Given the description of an element on the screen output the (x, y) to click on. 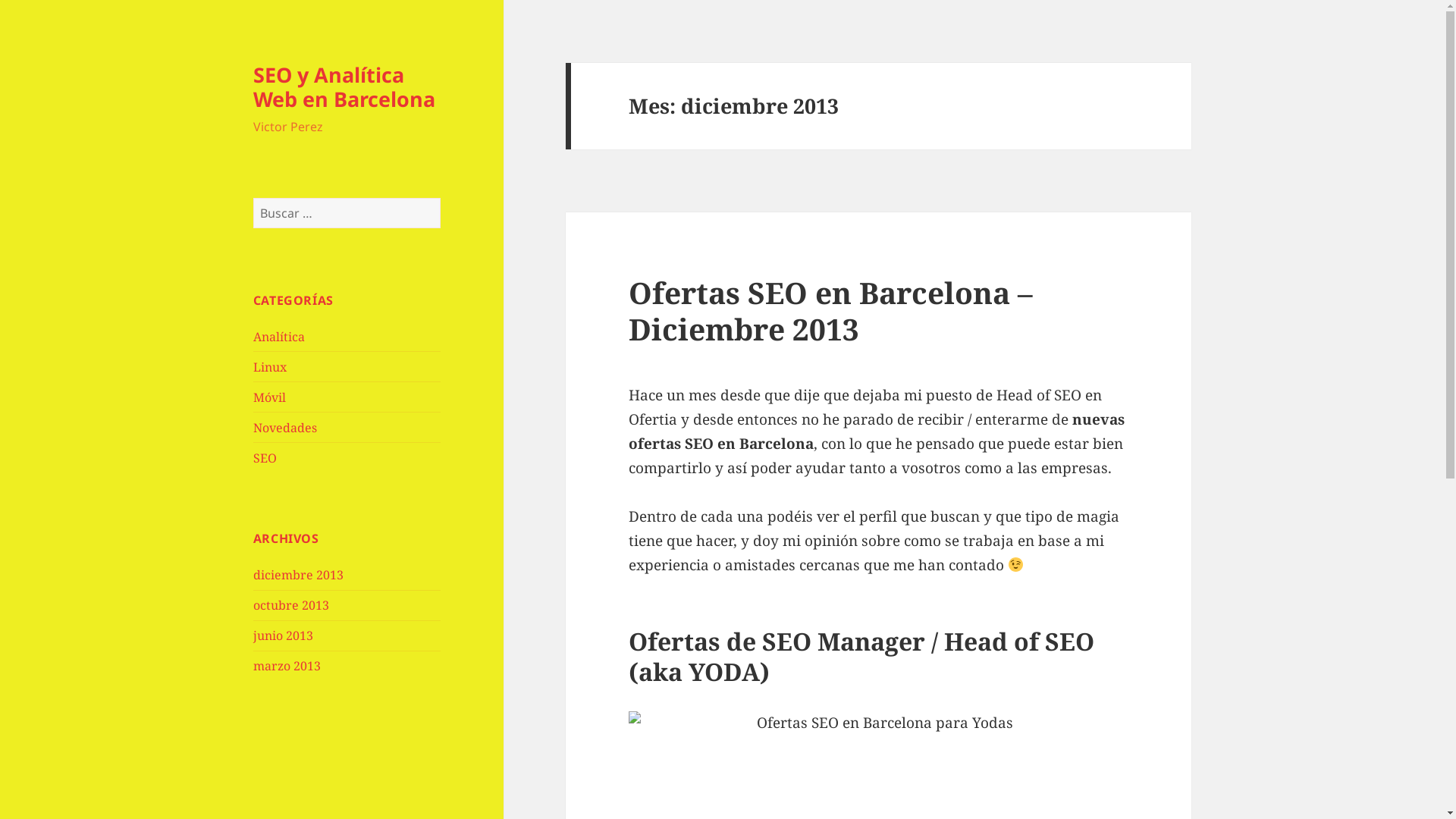
octubre 2013 Element type: text (291, 604)
Linux Element type: text (269, 366)
SEO Element type: text (264, 457)
diciembre 2013 Element type: text (298, 574)
Novedades Element type: text (284, 427)
junio 2013 Element type: text (283, 635)
marzo 2013 Element type: text (286, 665)
Buscar Element type: text (440, 197)
